Given the description of an element on the screen output the (x, y) to click on. 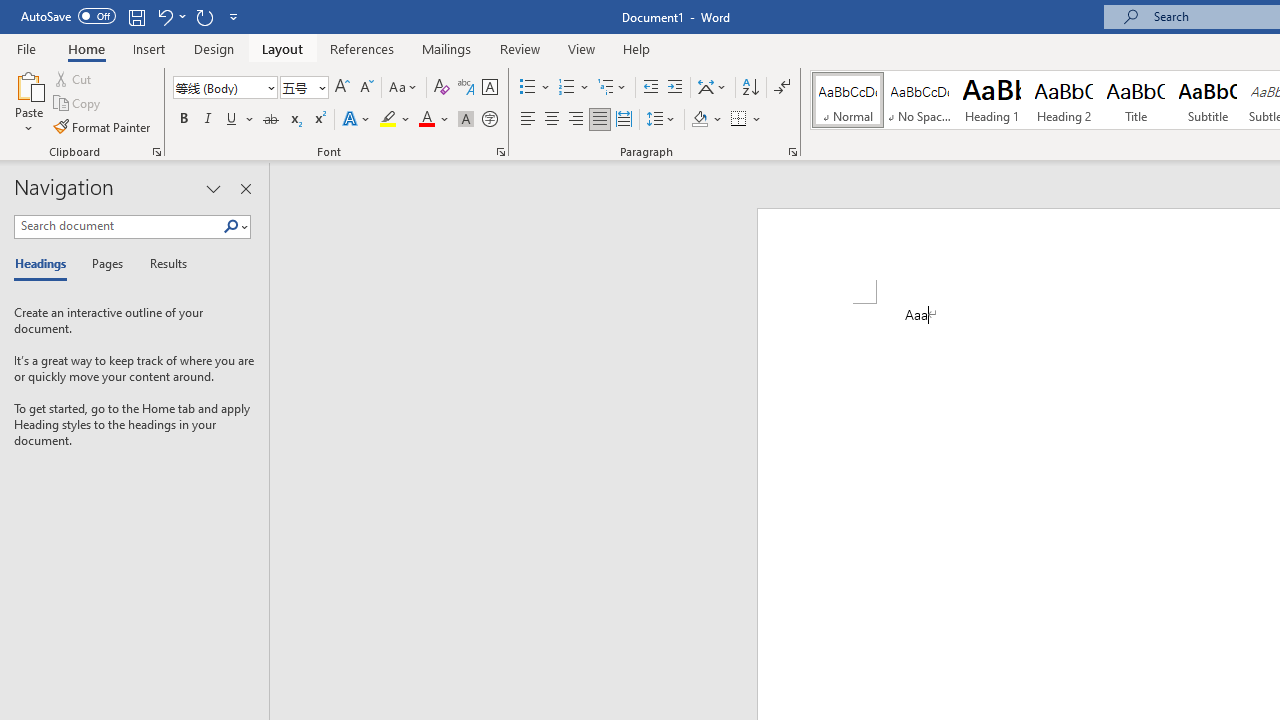
Text Effects and Typography (357, 119)
Font Color Red (426, 119)
Title (1135, 100)
Clear Formatting (442, 87)
Italic (207, 119)
Format Painter (103, 126)
Decrease Indent (650, 87)
Show/Hide Editing Marks (781, 87)
